Given the description of an element on the screen output the (x, y) to click on. 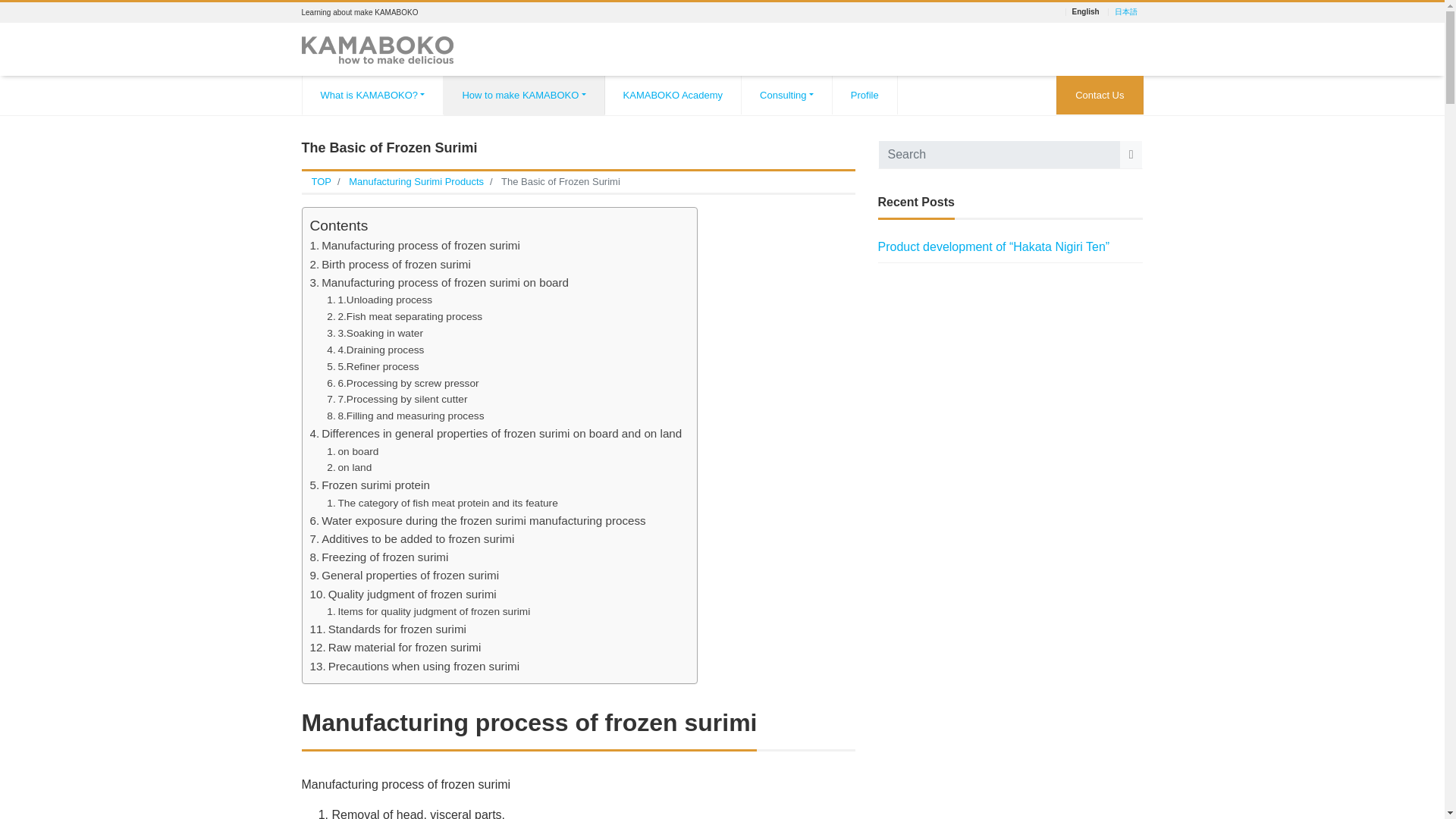
The Basic of Frozen Surimi (560, 181)
2.Fish meat separating process (403, 316)
4.Draining process (374, 350)
jp (1124, 11)
8.Filling and measuring process (404, 416)
5.Refiner process (372, 366)
How to make delicious KAMABOKO (376, 47)
on land (348, 467)
TOP (321, 181)
Manufacturing process of frozen surimi (413, 245)
Frozen surimi protein (368, 484)
KAMABOKO Academy (673, 95)
What is KAMABOKO? (372, 95)
The category of fish meat protein and its feature (441, 503)
